Given the description of an element on the screen output the (x, y) to click on. 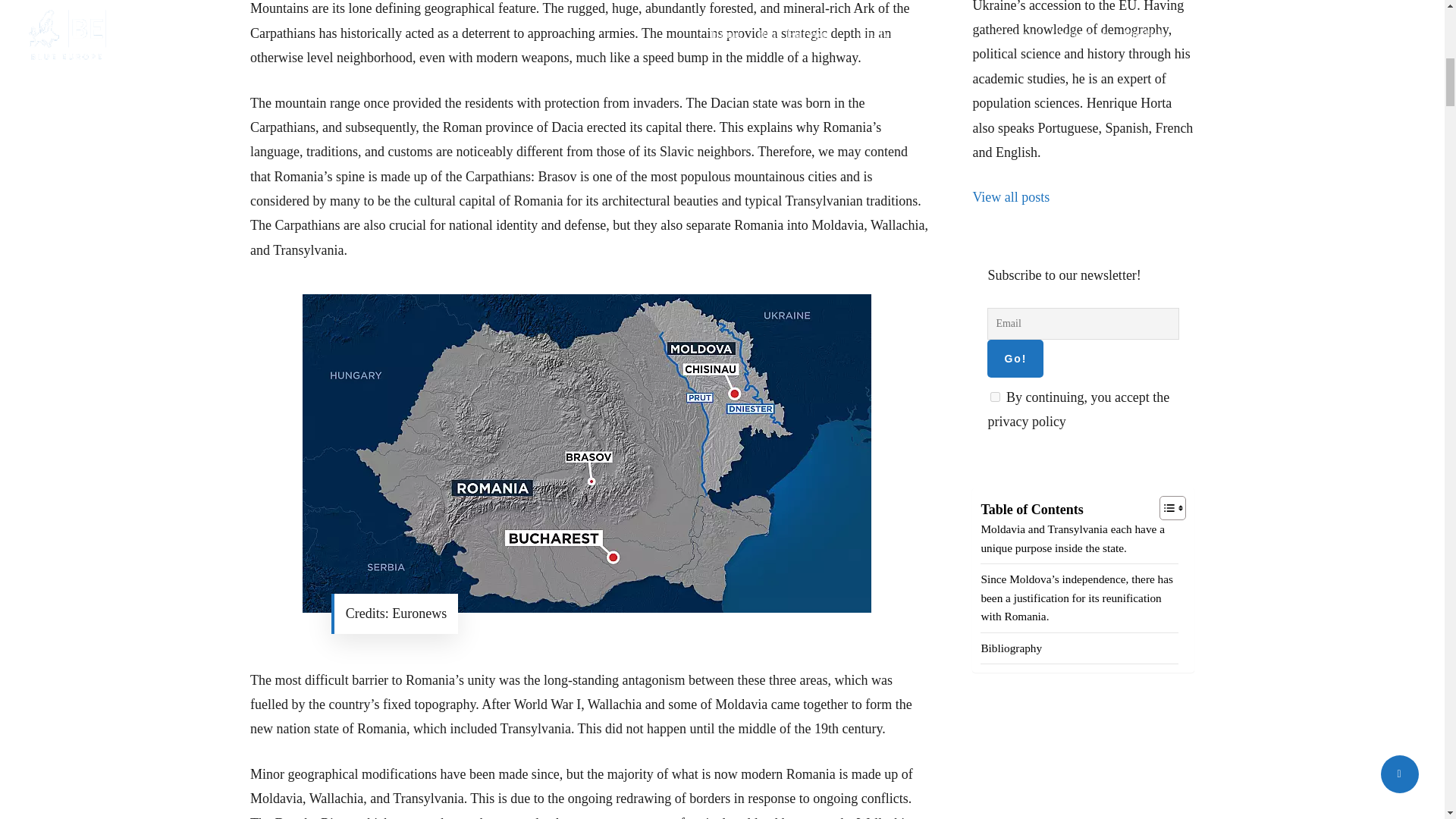
Go! (1014, 358)
on (995, 397)
Bibliography (1010, 648)
